Given the description of an element on the screen output the (x, y) to click on. 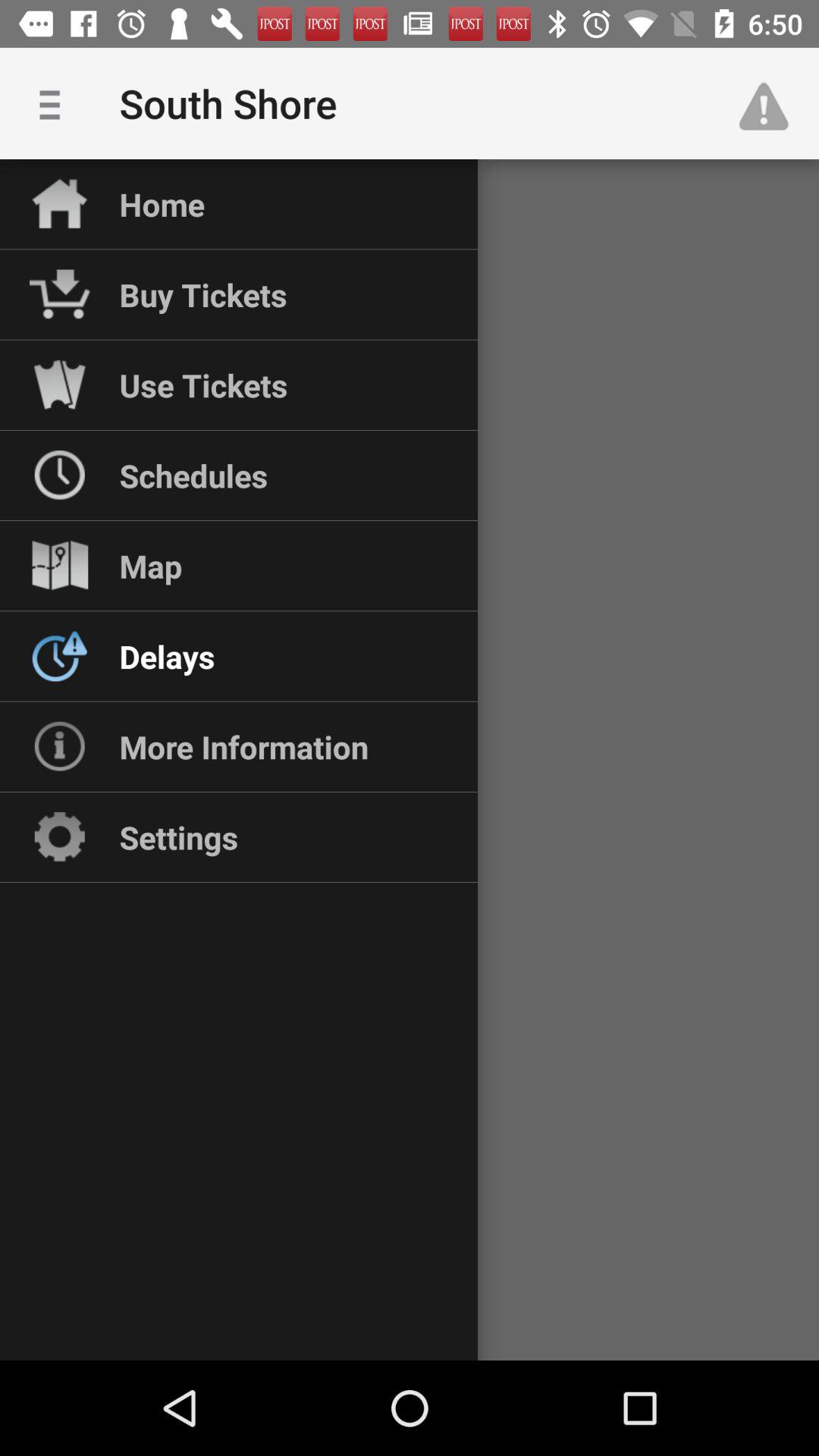
tap home icon (161, 204)
